Given the description of an element on the screen output the (x, y) to click on. 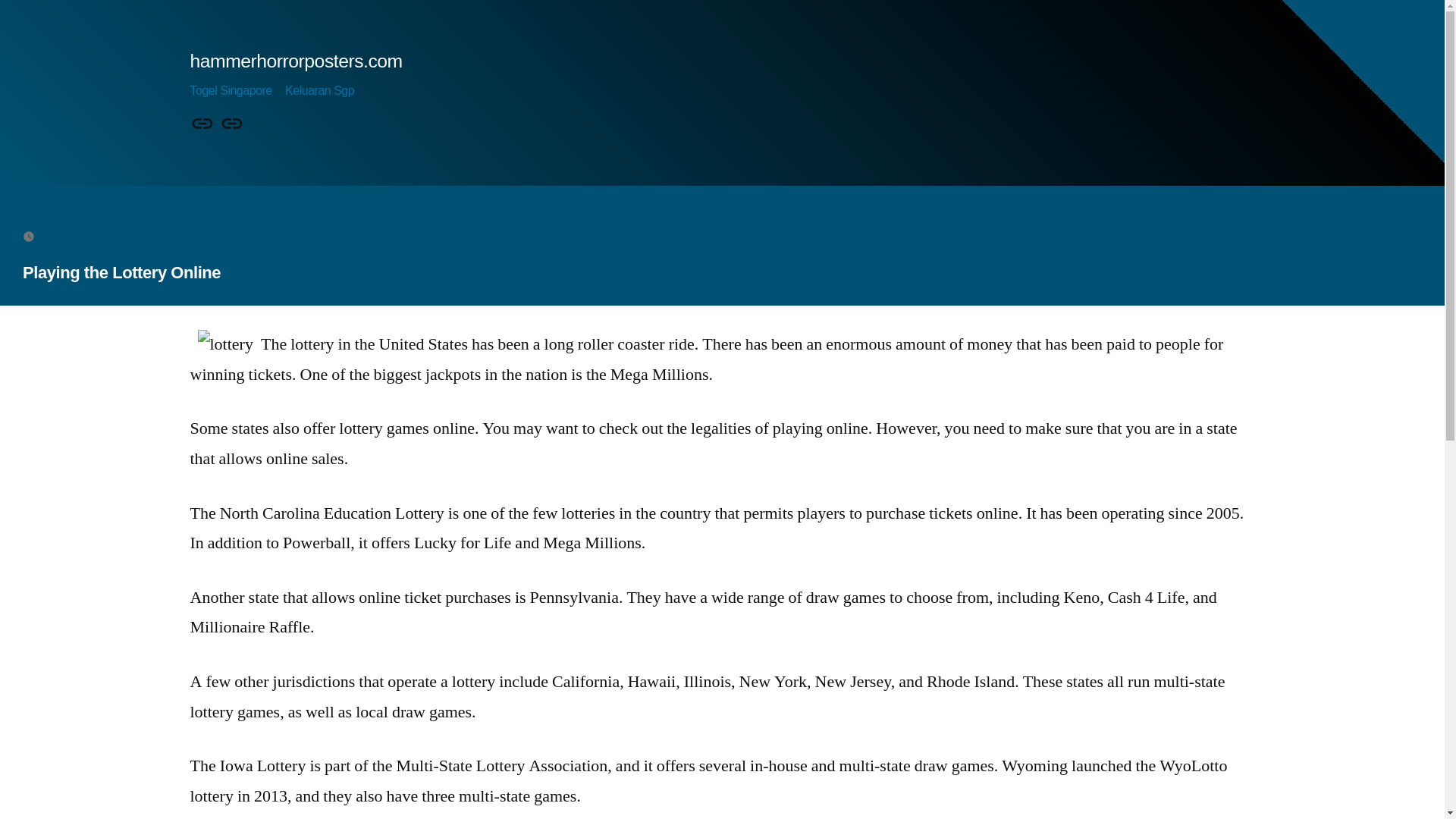
January 29, 2023 (86, 235)
Keluaran Sgp (231, 123)
Keluaran Sgp (319, 90)
Togel Singapore (229, 90)
hammerhorrorposters.com (295, 60)
Togel Singapore (201, 123)
